Given the description of an element on the screen output the (x, y) to click on. 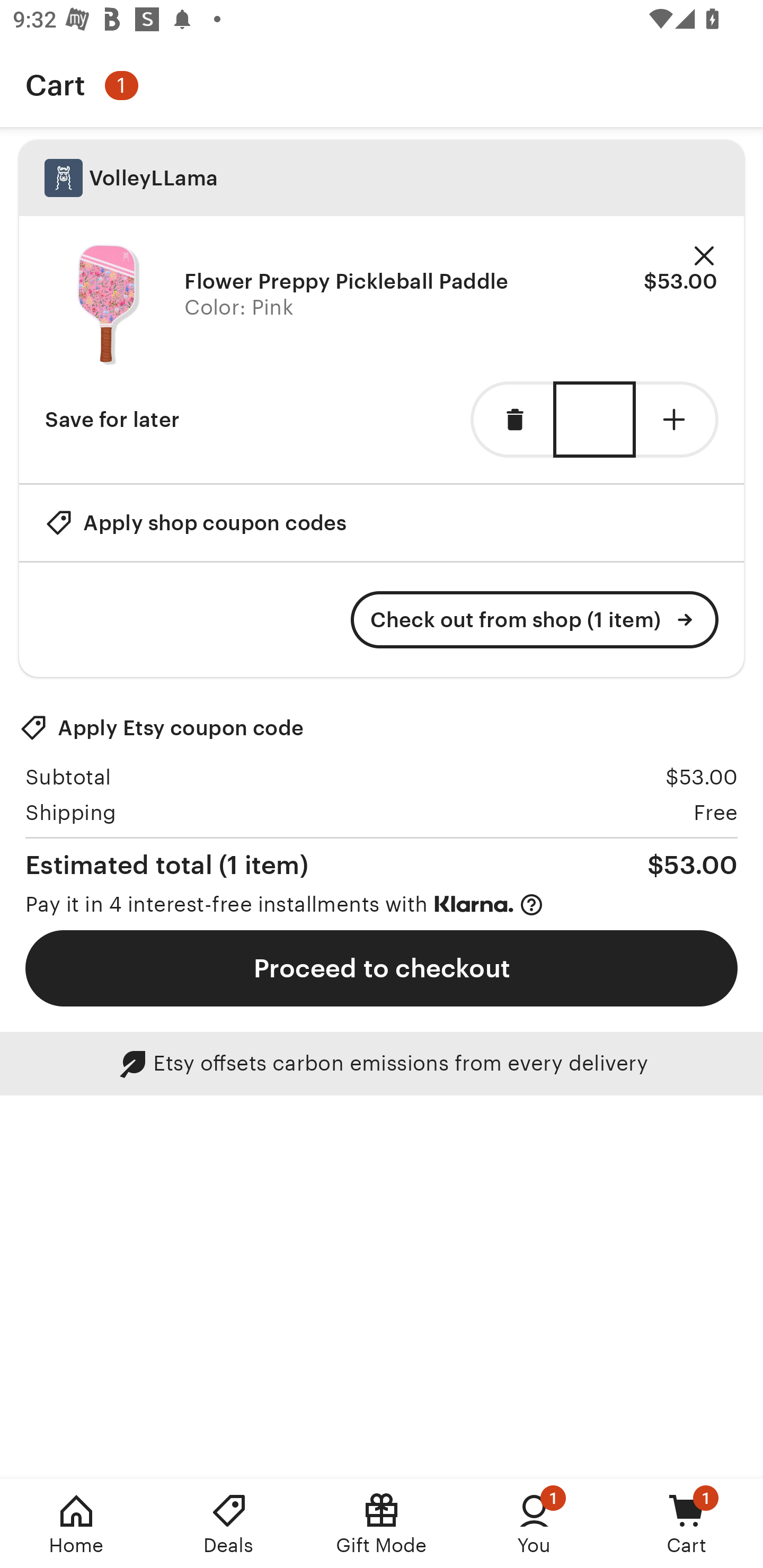
VolleyLLama (381, 177)
Remove (704, 255)
Flower Preppy Pickleball Paddle (107, 304)
Flower Preppy Pickleball Paddle (346, 281)
Save for later (112, 419)
Remove item from cart (511, 419)
Add one unit to cart (676, 419)
Apply shop coupon codes (195, 522)
Check out from shop (1 item) (534, 619)
Apply Etsy coupon code (161, 727)
Proceed to checkout (381, 967)
Home (76, 1523)
Deals (228, 1523)
Gift Mode (381, 1523)
You, 1 new notification You (533, 1523)
